Given the description of an element on the screen output the (x, y) to click on. 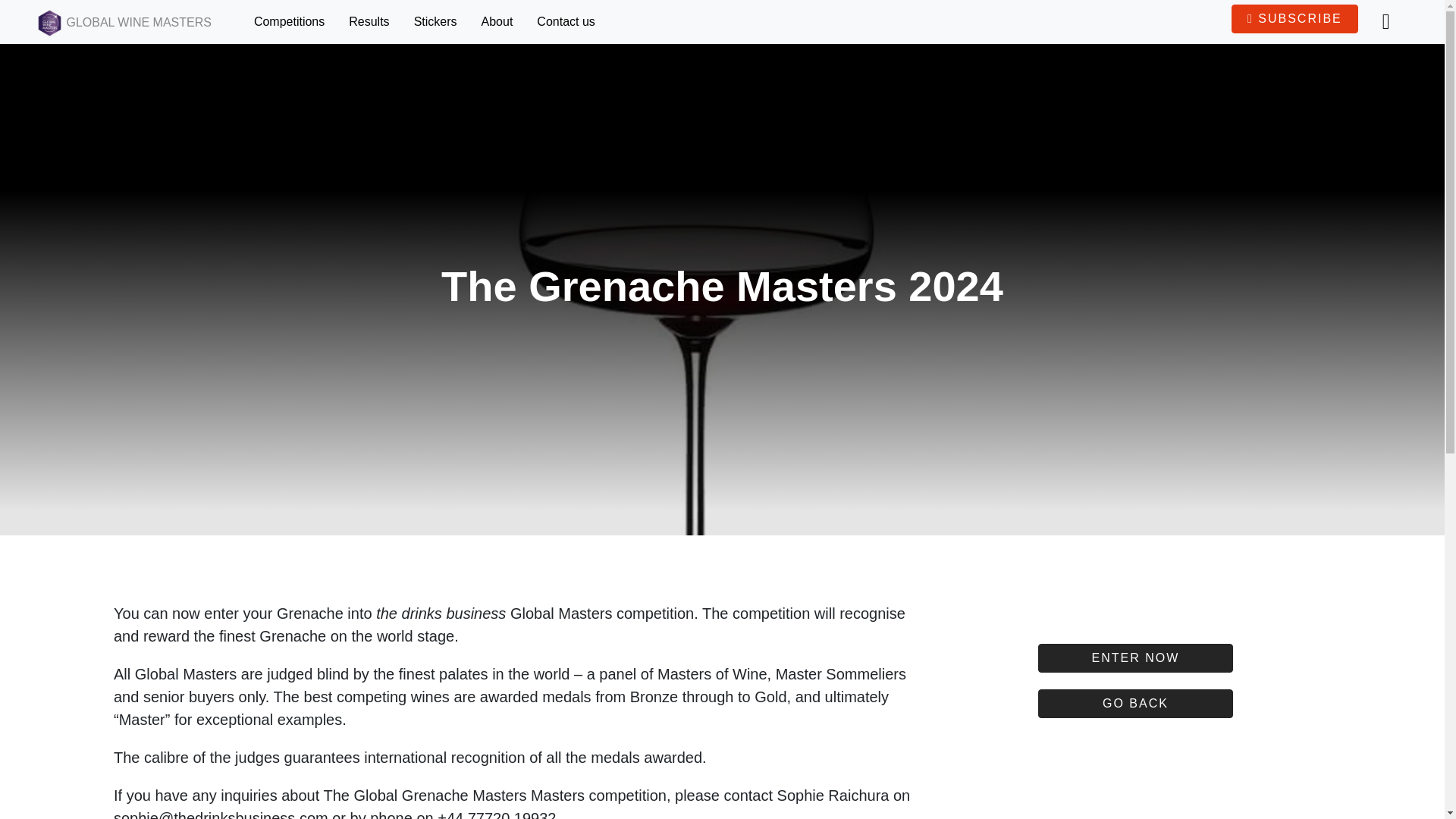
My account (1391, 22)
GO BACK (1135, 703)
ENTER NOW (1135, 657)
SUBSCRIBE (1294, 18)
Contact us (571, 21)
Results (374, 21)
GLOBAL WINE MASTERS (123, 22)
SUBSCRIBE (1294, 18)
My account (1385, 21)
Results (374, 21)
Competitions (294, 21)
My account (1391, 22)
Competitions (294, 21)
About (503, 21)
About (503, 21)
